Given the description of an element on the screen output the (x, y) to click on. 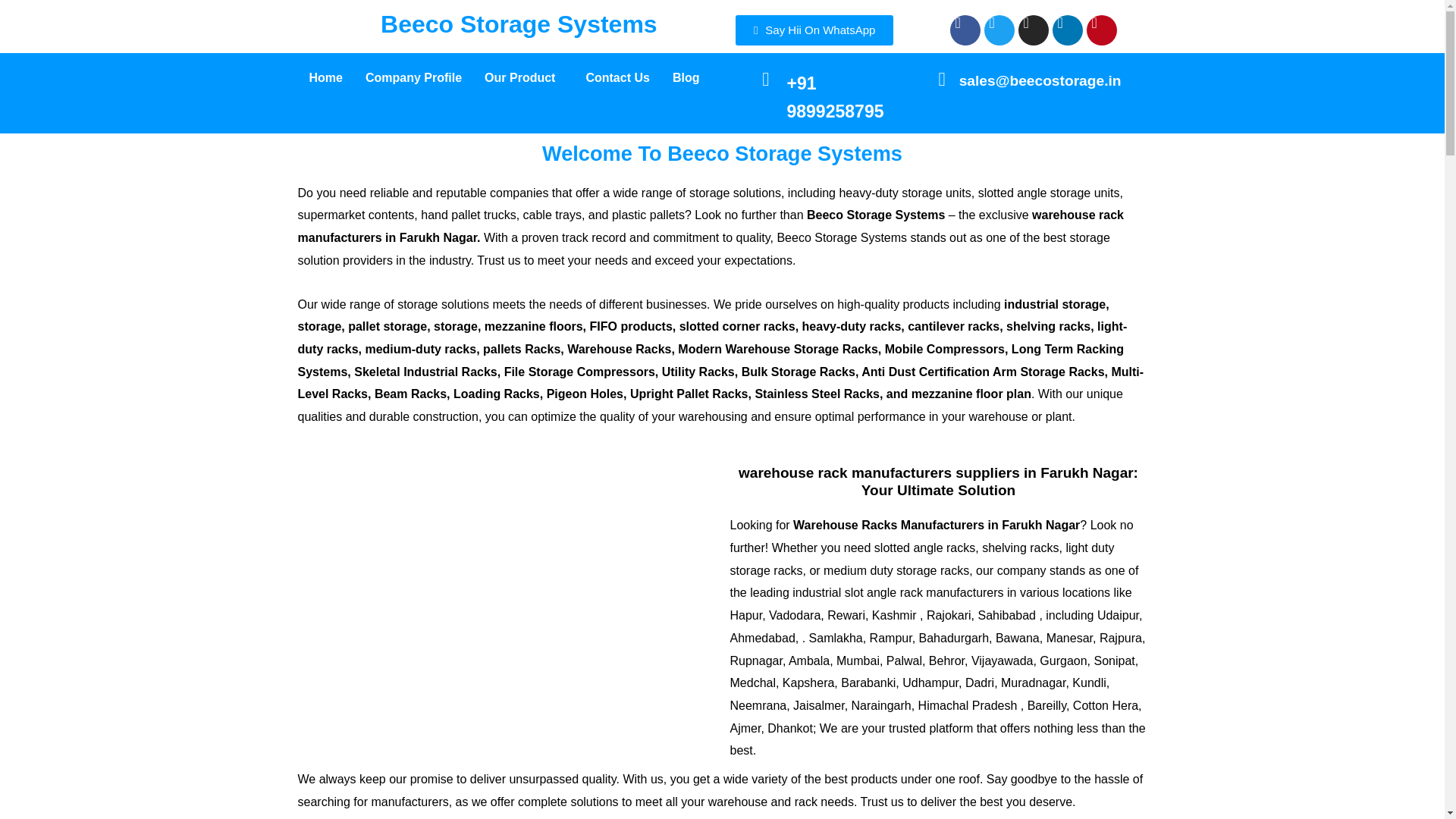
Blog (686, 77)
Contact Us (617, 77)
Company Profile (413, 77)
Home (325, 77)
Say Hii On WhatsApp (814, 30)
Our Product (523, 77)
Beeco Storage Systems (519, 23)
